Given the description of an element on the screen output the (x, y) to click on. 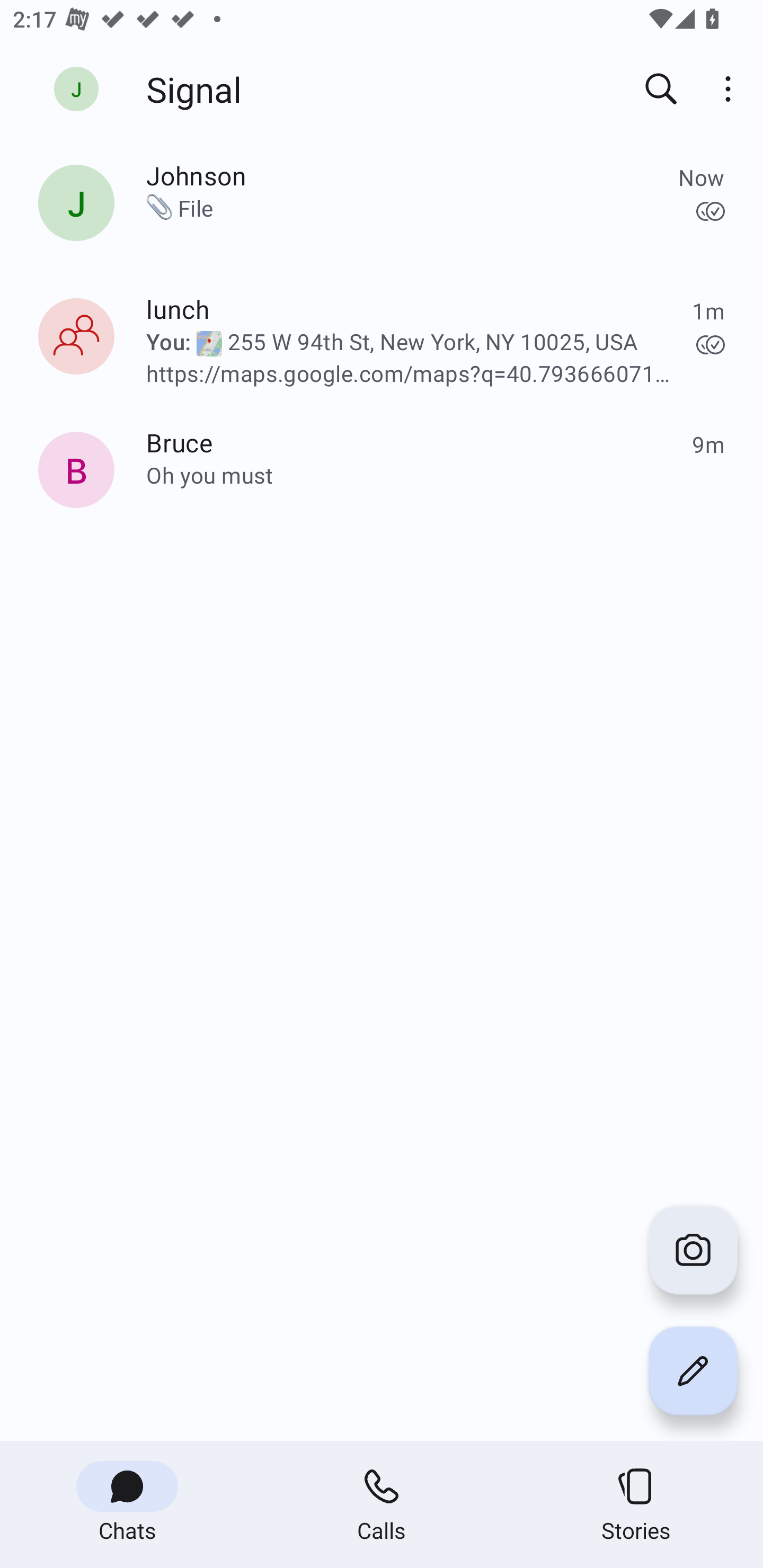
Contact Photo Image Bruce 9m Badge Oh you must (381, 473)
